Given the description of an element on the screen output the (x, y) to click on. 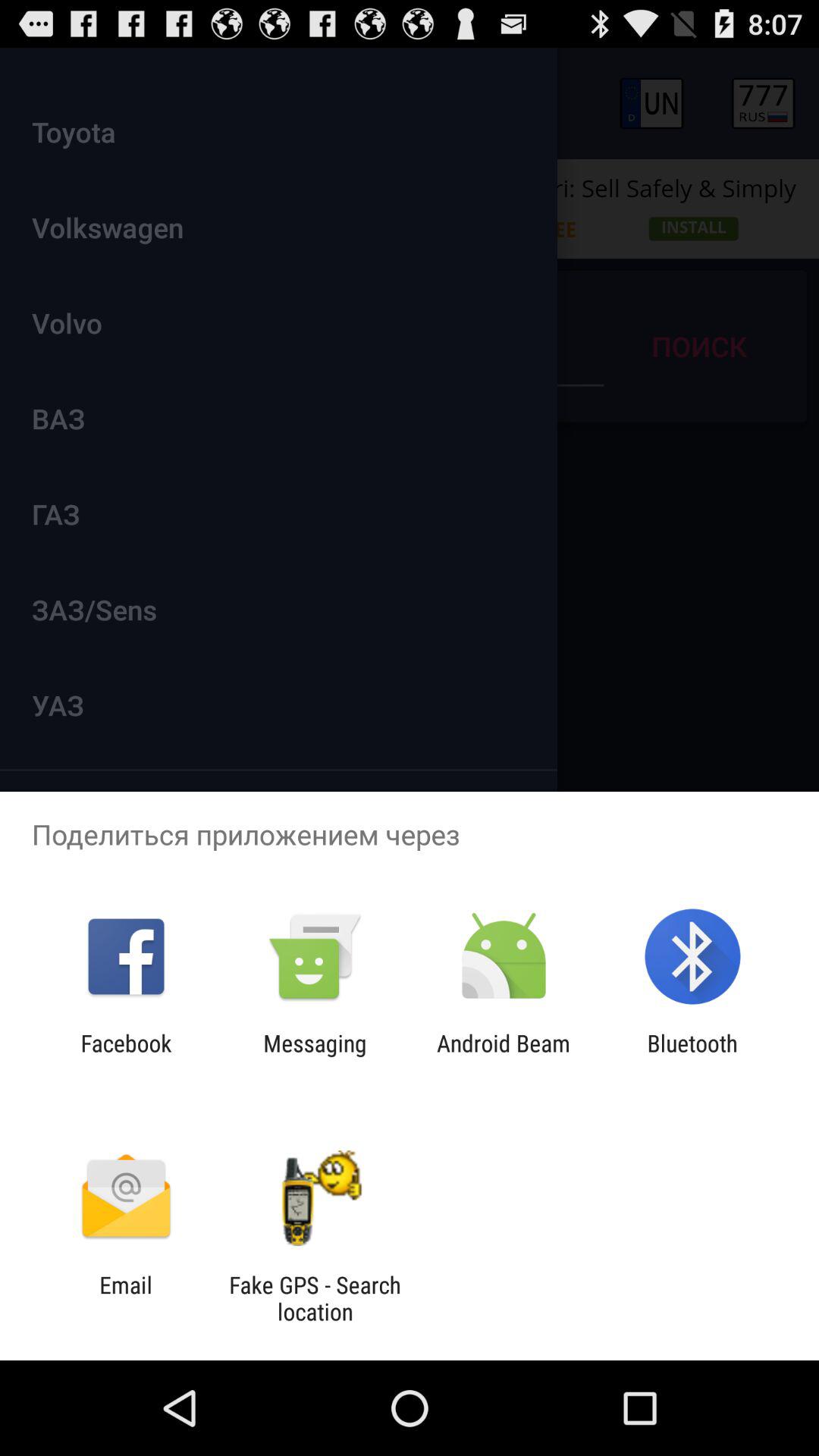
select item at the bottom right corner (692, 1056)
